Given the description of an element on the screen output the (x, y) to click on. 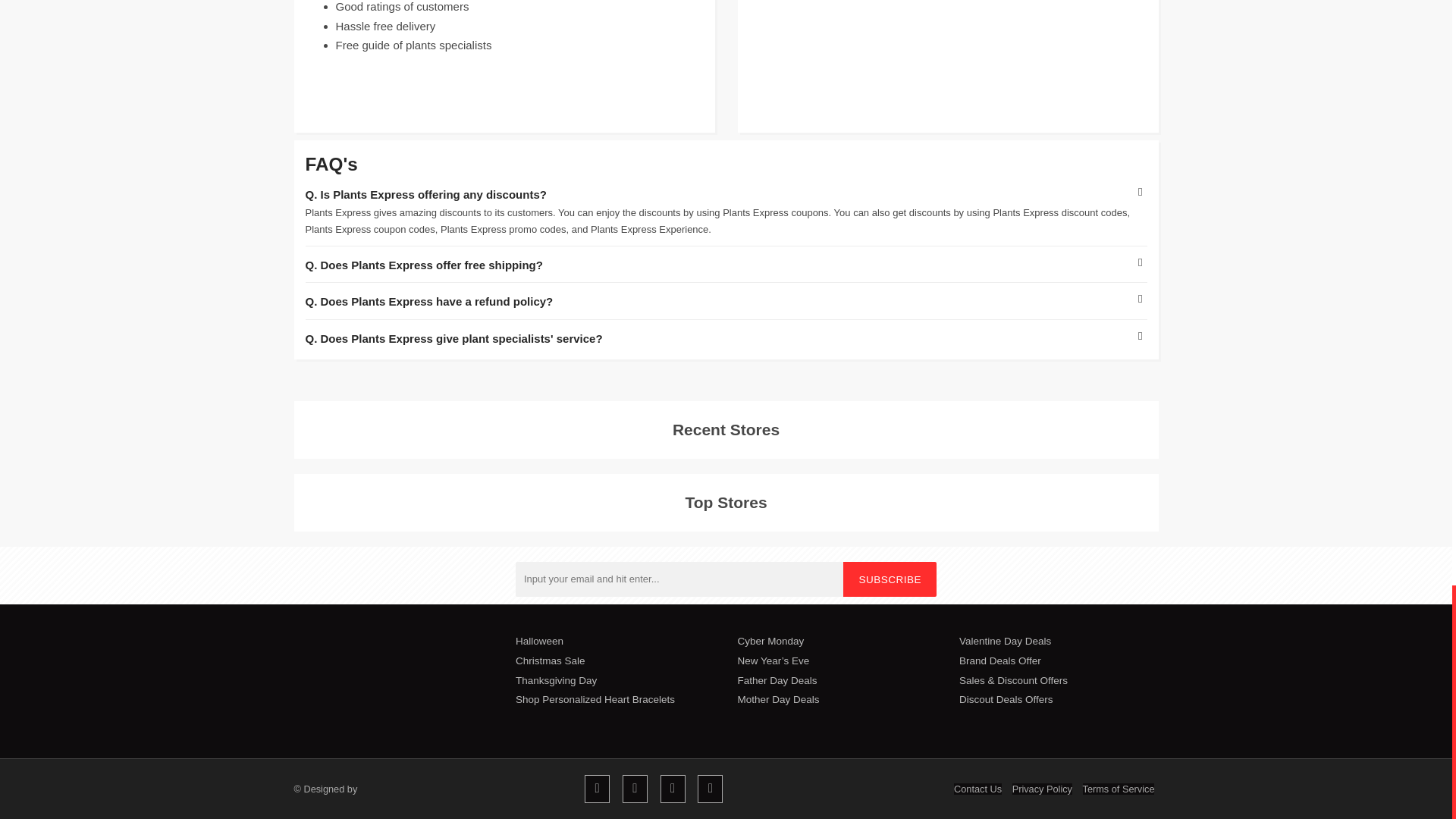
Subscribe (946, 66)
